Given the description of an element on the screen output the (x, y) to click on. 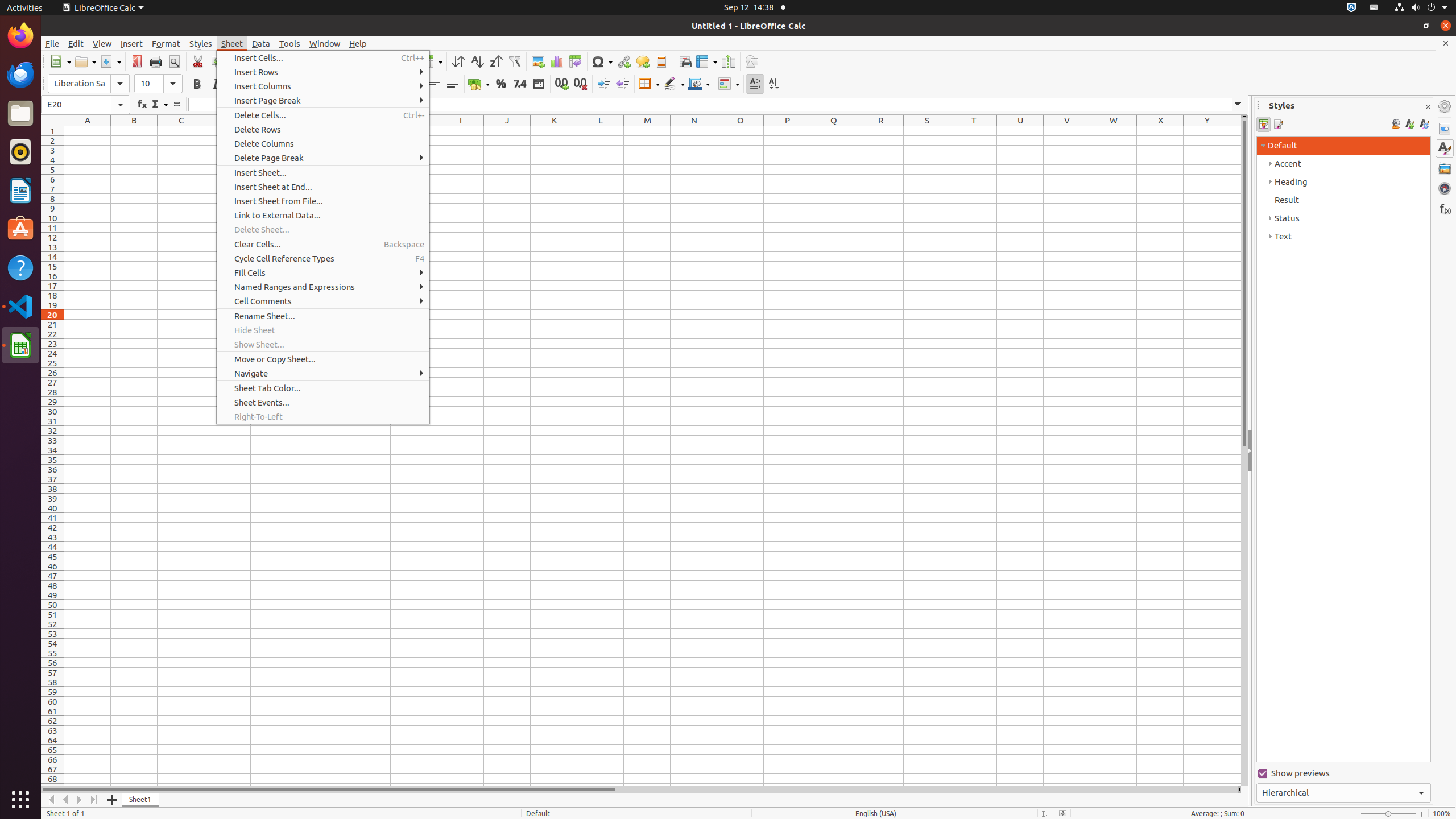
Page Styles Element type: push-button (1277, 123)
Q1 Element type: table-cell (833, 130)
Image Element type: push-button (537, 61)
Cell Styles Element type: push-button (1263, 123)
Right-To-Left Element type: menu-item (322, 416)
